Given the description of an element on the screen output the (x, y) to click on. 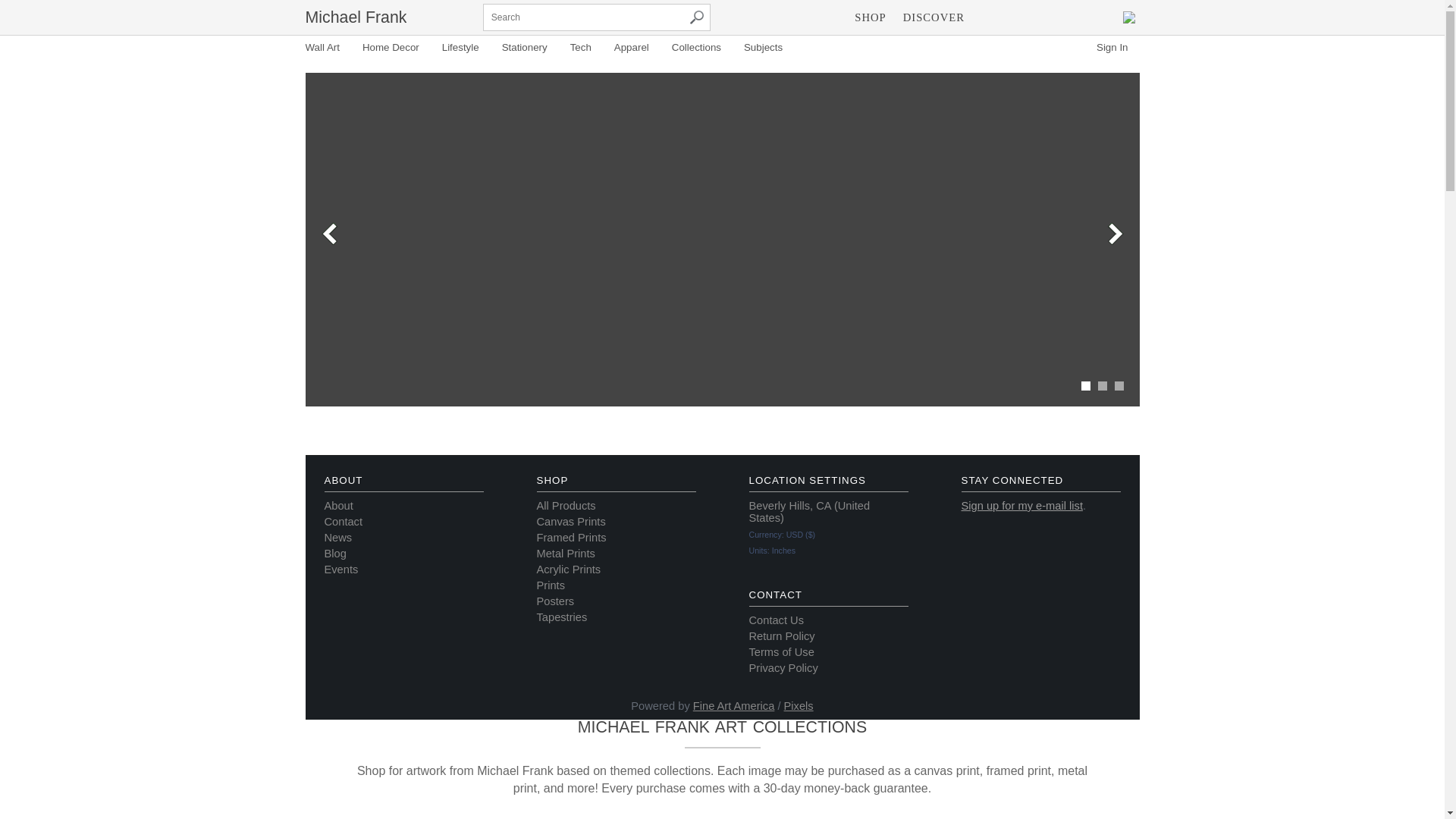
Previous Slide (328, 233)
Michael Frank (355, 16)
DISCOVER (933, 16)
Next Slide (1114, 233)
Search (696, 17)
SHOP (869, 16)
